Given the description of an element on the screen output the (x, y) to click on. 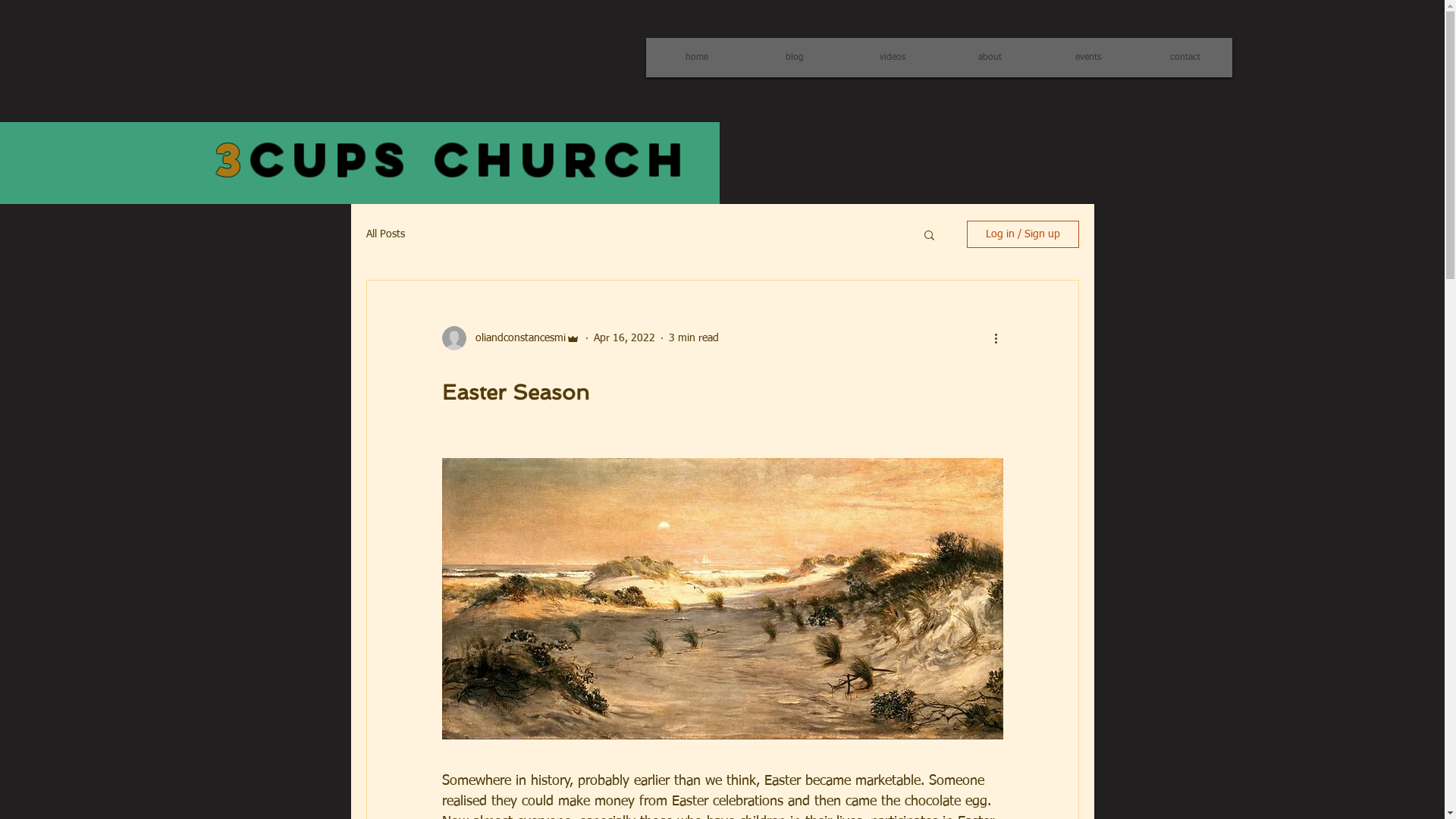
contact Element type: text (1185, 57)
Log in / Sign up Element type: text (1022, 233)
events Element type: text (1087, 57)
blog Element type: text (794, 57)
All Posts Element type: text (384, 233)
about Element type: text (990, 57)
videos Element type: text (891, 57)
home Element type: text (696, 57)
